Given the description of an element on the screen output the (x, y) to click on. 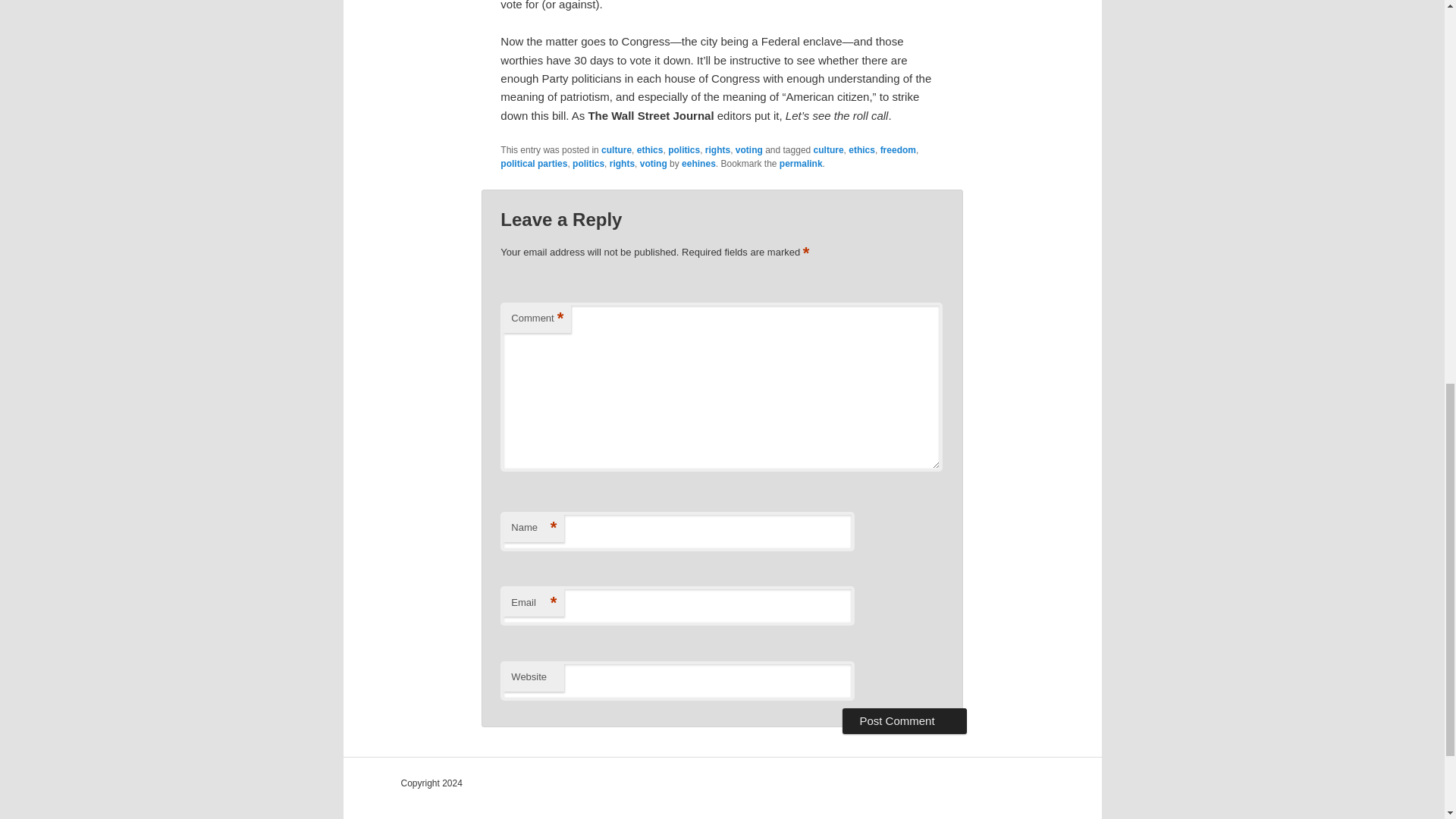
ethics (861, 149)
rights (717, 149)
freedom (897, 149)
culture (828, 149)
political parties (533, 163)
Post Comment (904, 720)
rights (622, 163)
ethics (650, 149)
Post Comment (904, 720)
politics (588, 163)
